Given the description of an element on the screen output the (x, y) to click on. 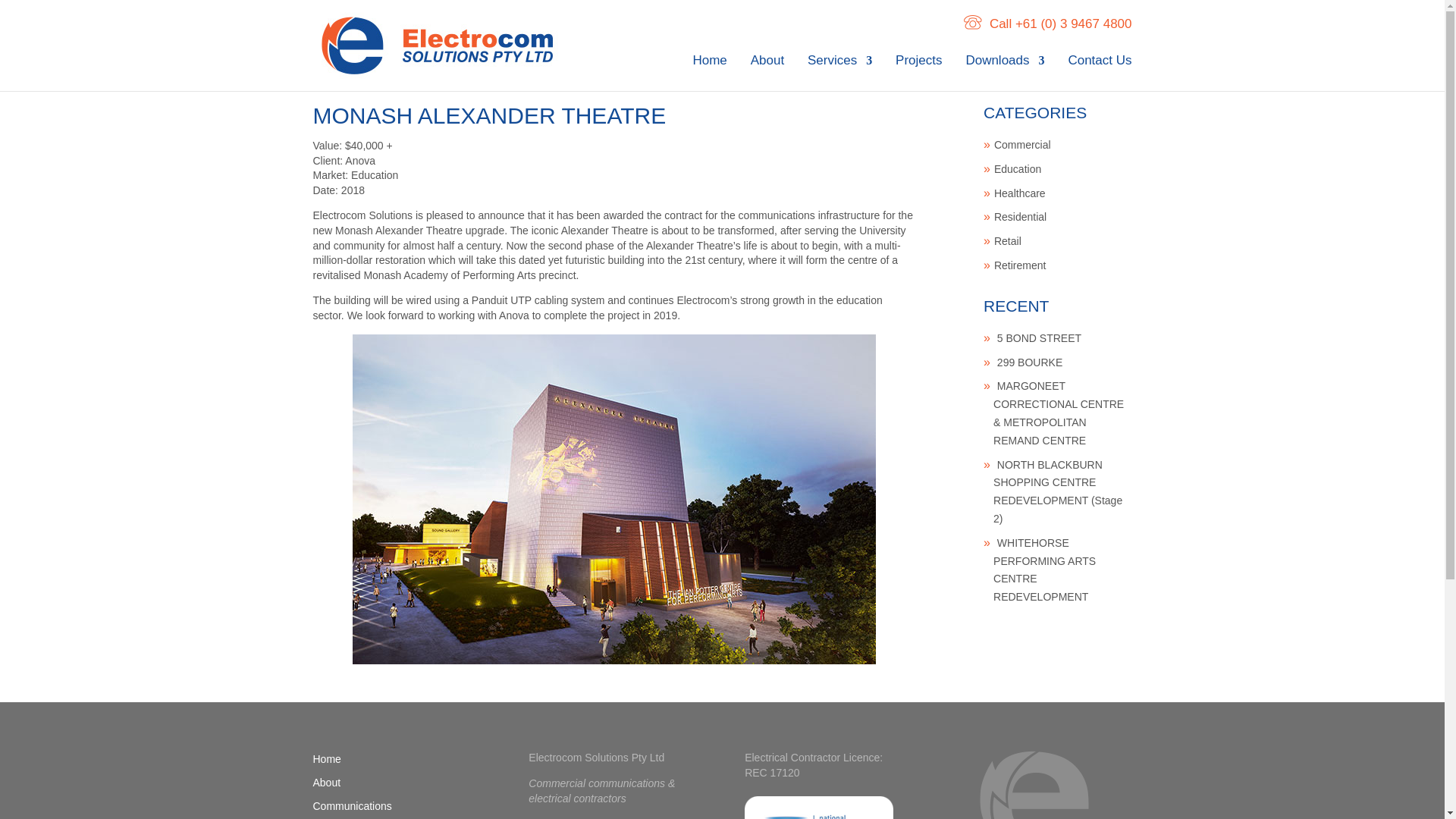
Home (326, 758)
5 BOND STREET (1039, 337)
Communications (352, 806)
Home (709, 72)
299 BOURKE (1029, 362)
Healthcare (1019, 193)
Services (840, 72)
About (767, 72)
Contact Us (1099, 72)
Residential (1020, 216)
